Given the description of an element on the screen output the (x, y) to click on. 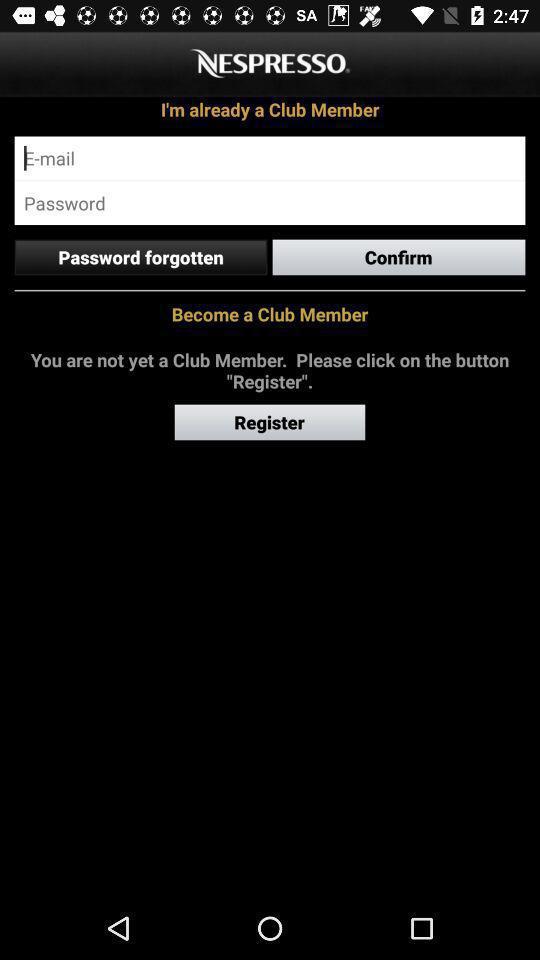
select icon at the top right corner (398, 257)
